Given the description of an element on the screen output the (x, y) to click on. 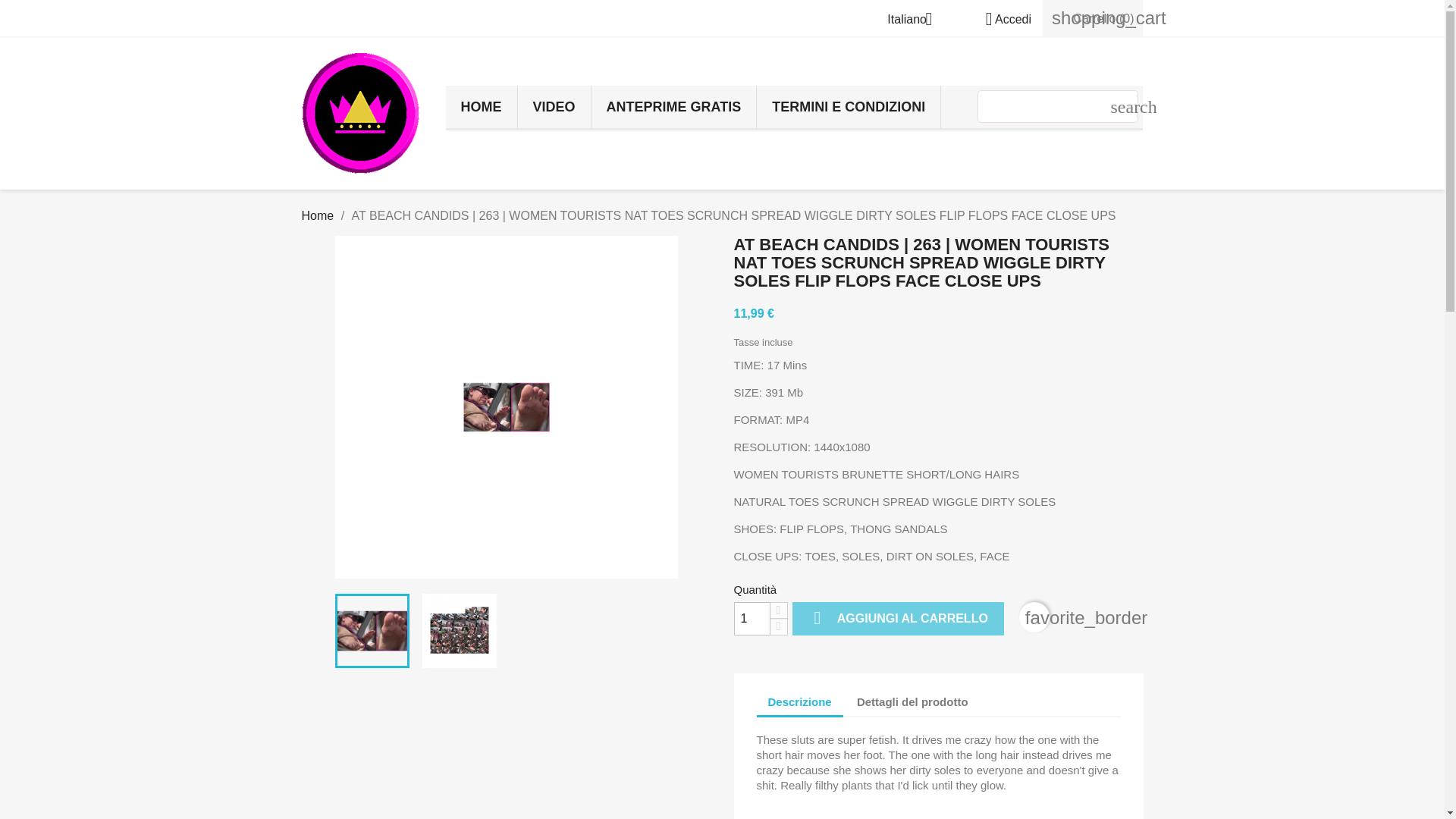
Descrizione (800, 702)
ANTEPRIME GRATIS (674, 106)
TERMINI E CONDIZIONI (848, 106)
1 (751, 618)
ANTEPRIME GRATIS (674, 106)
HOME (480, 106)
VIDEO (552, 106)
Accedi al tuo account cliente (1002, 19)
HOME (480, 106)
TERMINI E CONDIZIONI (848, 106)
Dettagli del prodotto (912, 701)
Home (317, 215)
VIDEO (552, 106)
